Given the description of an element on the screen output the (x, y) to click on. 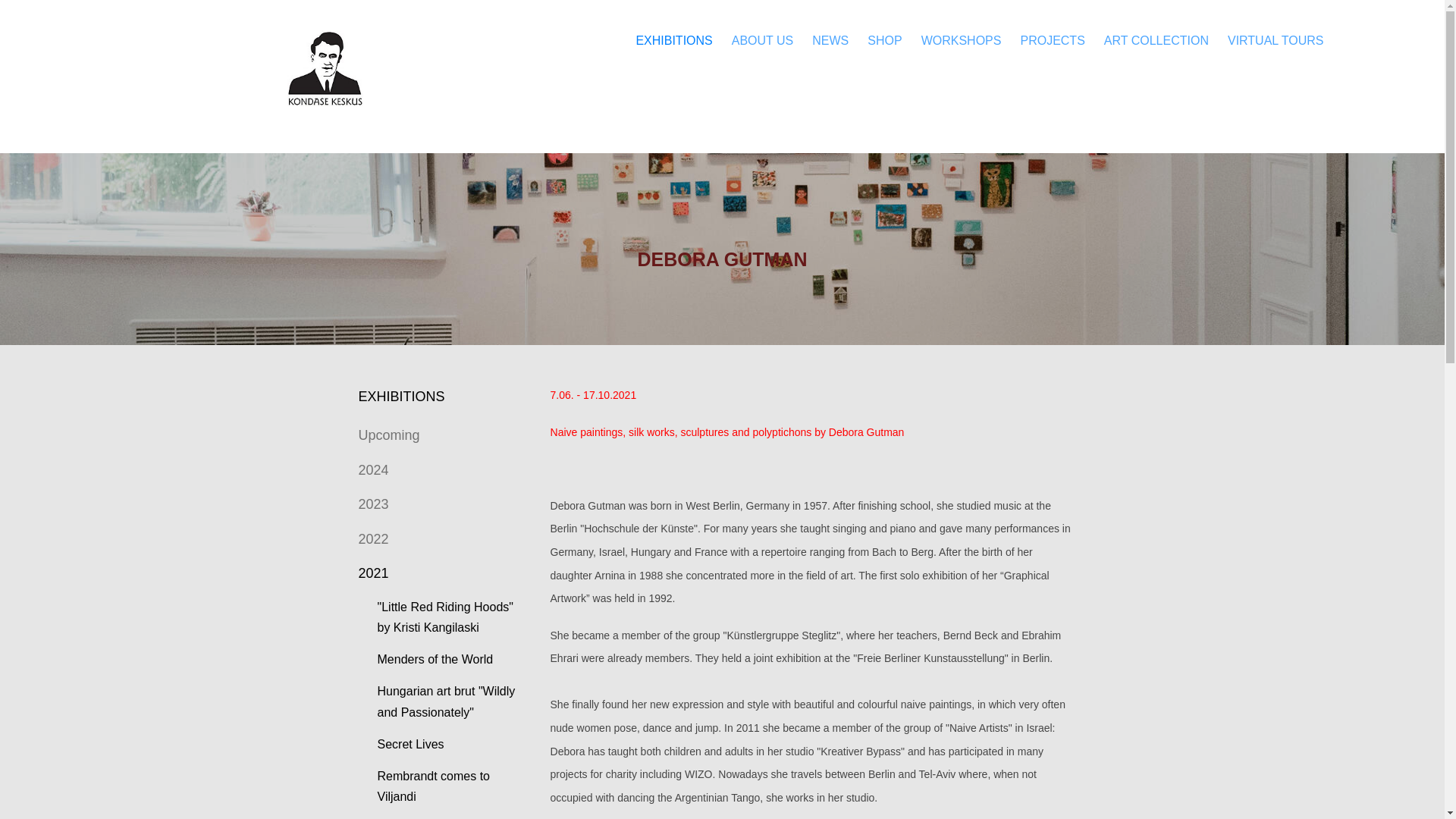
ART COLLECTION (1155, 40)
2023 (373, 503)
ABOUT US (762, 40)
VIRTUAL TOURS (1275, 40)
2022 (373, 539)
SHOP (884, 40)
PROJECTS (1052, 40)
2021 (373, 572)
Menders of the World (435, 658)
2024 (373, 469)
"Little Red Riding Hoods" by Kristi Kangilaski (445, 616)
Hungarian art brut "Wildly and Passionately" (446, 701)
NEWS (830, 40)
Rembrandt comes to Viljandi (433, 786)
ENGLISH (1382, 39)
